Given the description of an element on the screen output the (x, y) to click on. 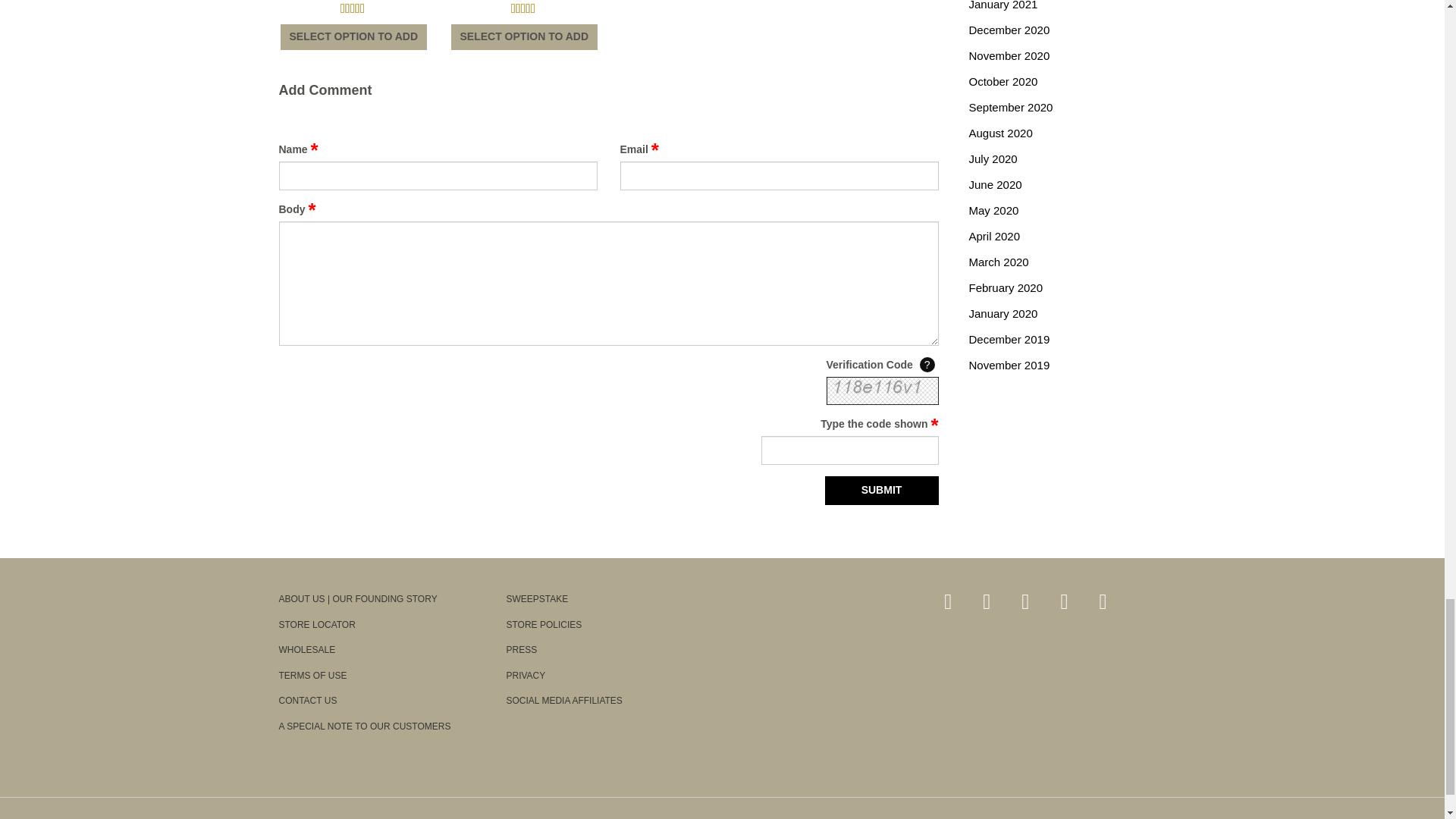
Like Us on Facebook (986, 601)
Follow Us on Instagram (1102, 601)
Subscribe to our Channel (1063, 601)
Submit (882, 490)
Subscribe to our Blog (947, 601)
Follow Us on Twitter (1025, 601)
